Given the description of an element on the screen output the (x, y) to click on. 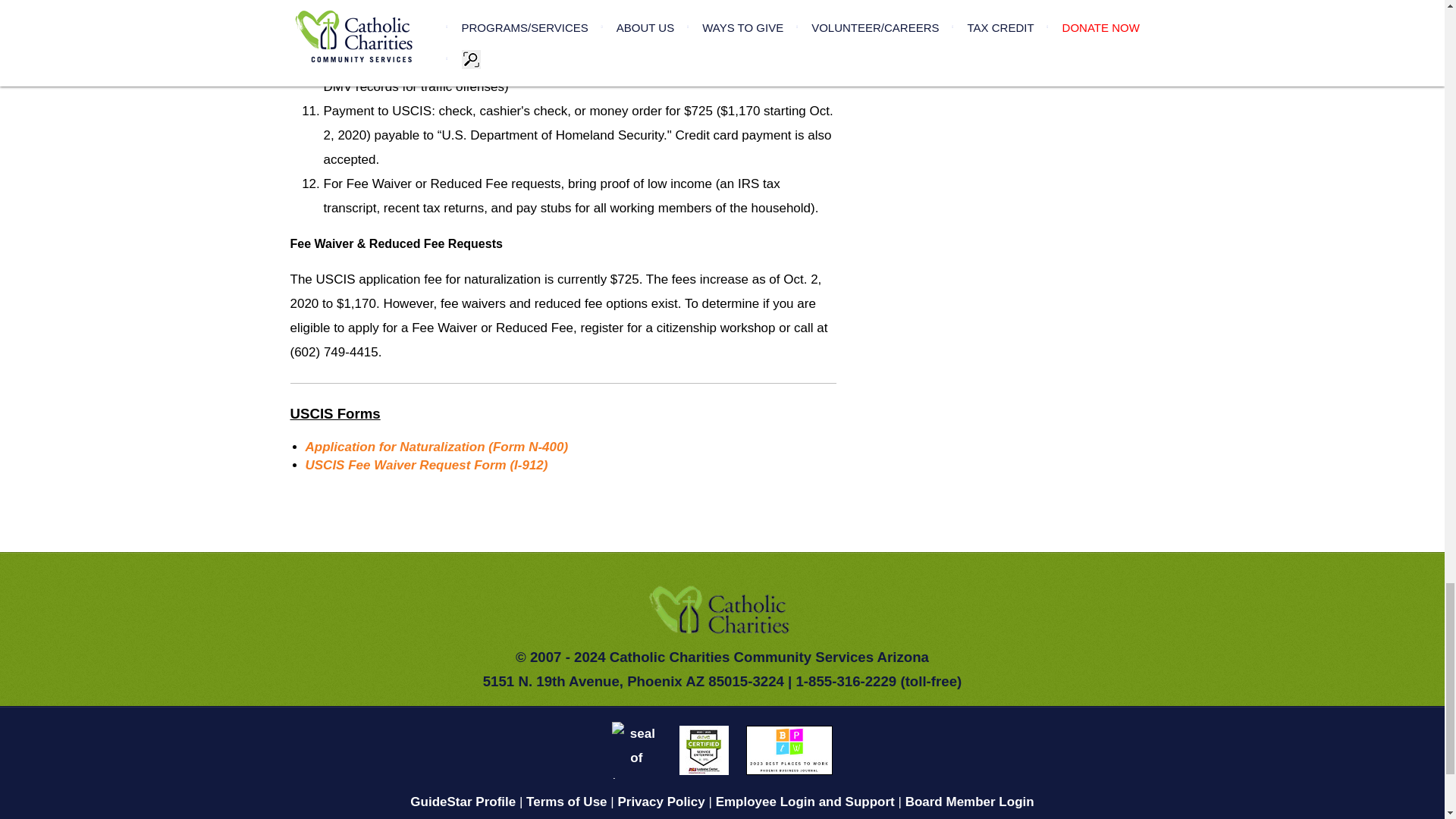
Service Enterprise Certification (704, 749)
Terms of Use (566, 801)
Form I-912 (425, 464)
Form N-400 (435, 446)
Employee Login and Support (805, 801)
Board Member Login (969, 801)
2019 Silver GuideStar Seal of Transparency (636, 749)
Catholic Charities GuideStar Profile (462, 801)
Privacy Policy (660, 801)
